Given the description of an element on the screen output the (x, y) to click on. 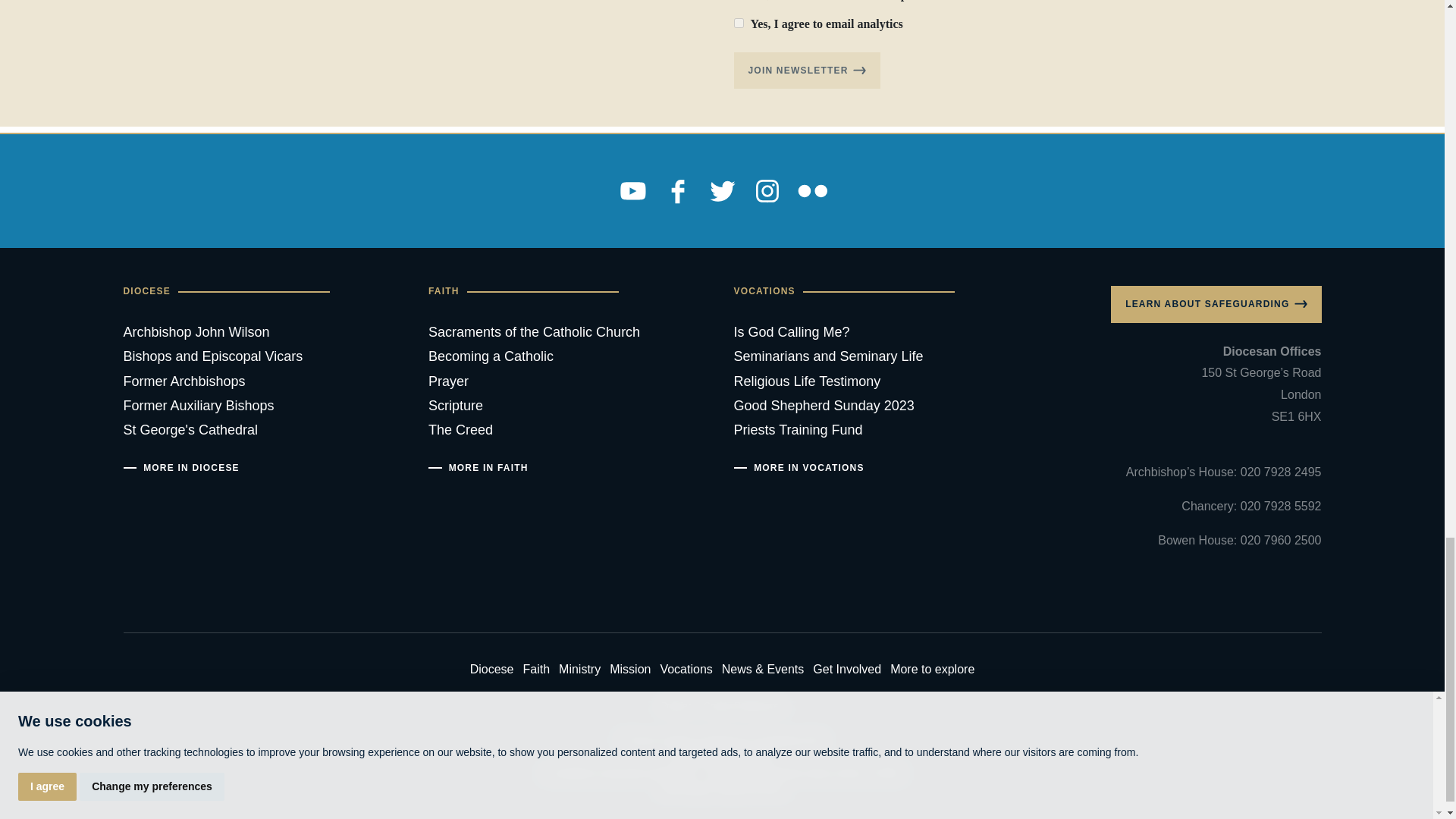
on (738, 22)
